Given the description of an element on the screen output the (x, y) to click on. 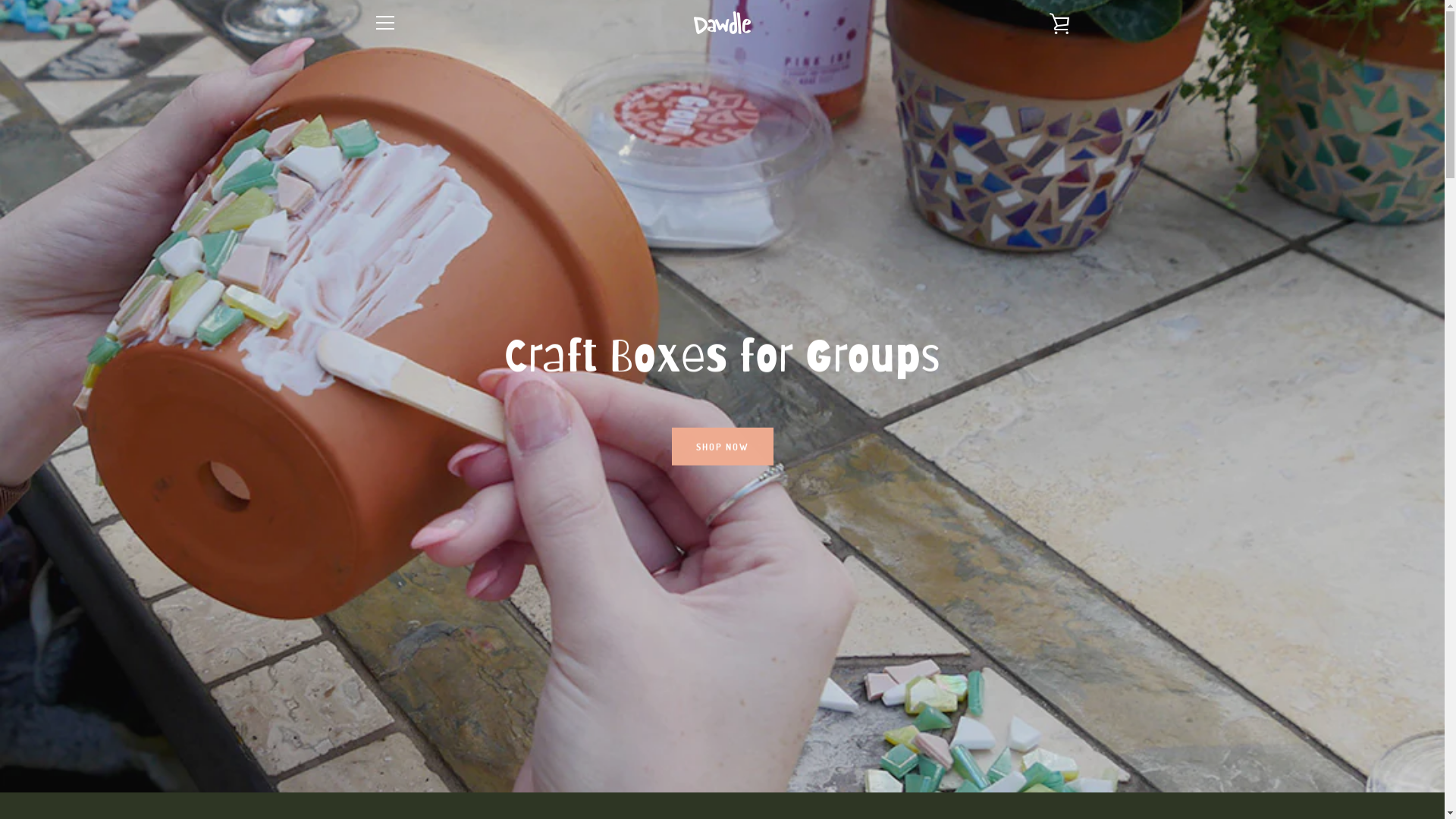
SHOP NOW Element type: text (722, 445)
VIEW CART Element type: text (1059, 22)
Skip to content Element type: text (0, 0)
MENU Element type: text (384, 22)
